Given the description of an element on the screen output the (x, y) to click on. 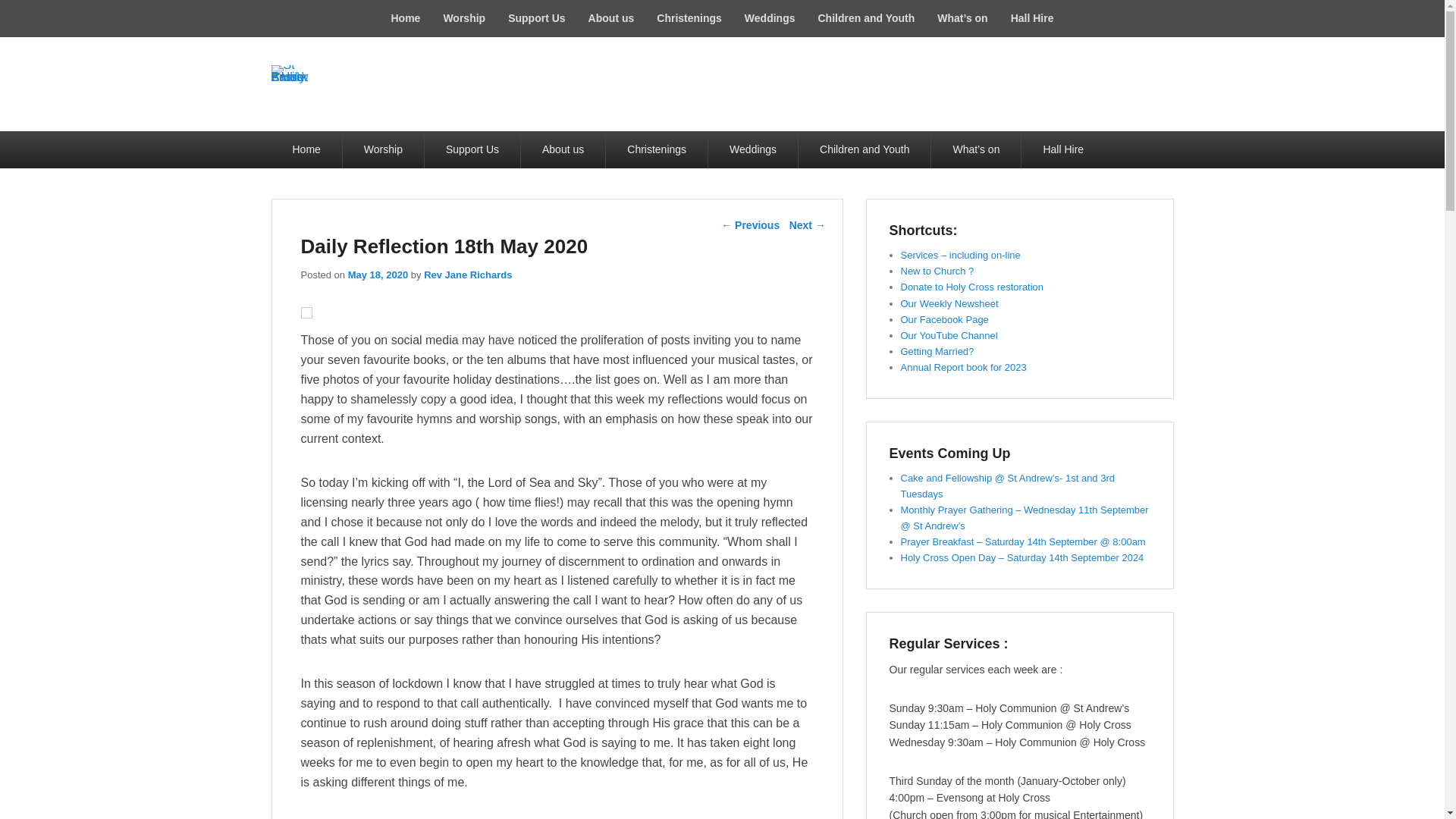
1:12 pm (378, 274)
Weddings (769, 18)
Support Us (536, 18)
Hall Hire (1031, 18)
Children and Youth (866, 18)
Worship (463, 18)
About us (611, 18)
Home (404, 18)
View all posts by Rev Jane Richards (467, 274)
Christenings (689, 18)
